Given the description of an element on the screen output the (x, y) to click on. 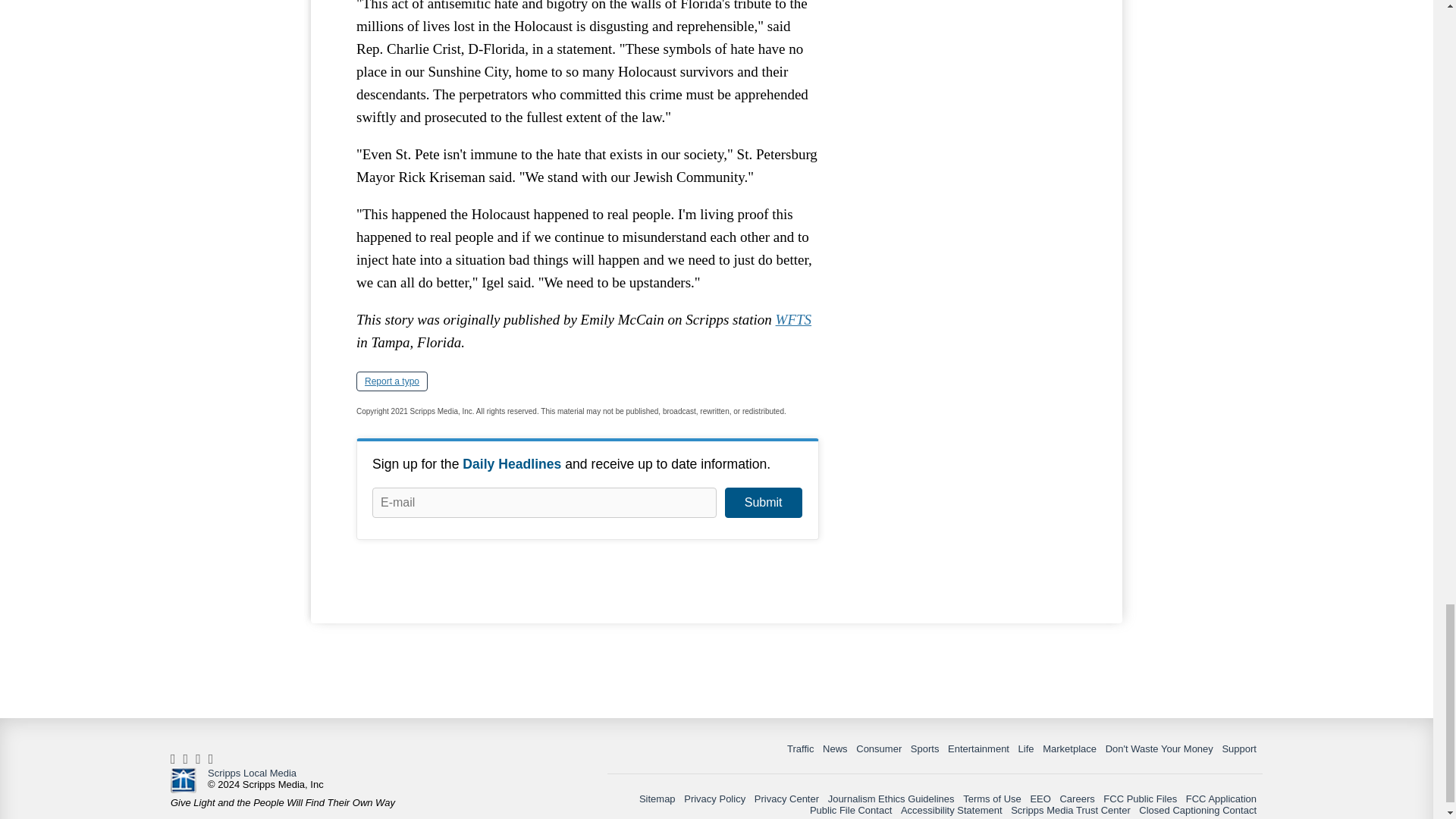
Submit (763, 502)
